Given the description of an element on the screen output the (x, y) to click on. 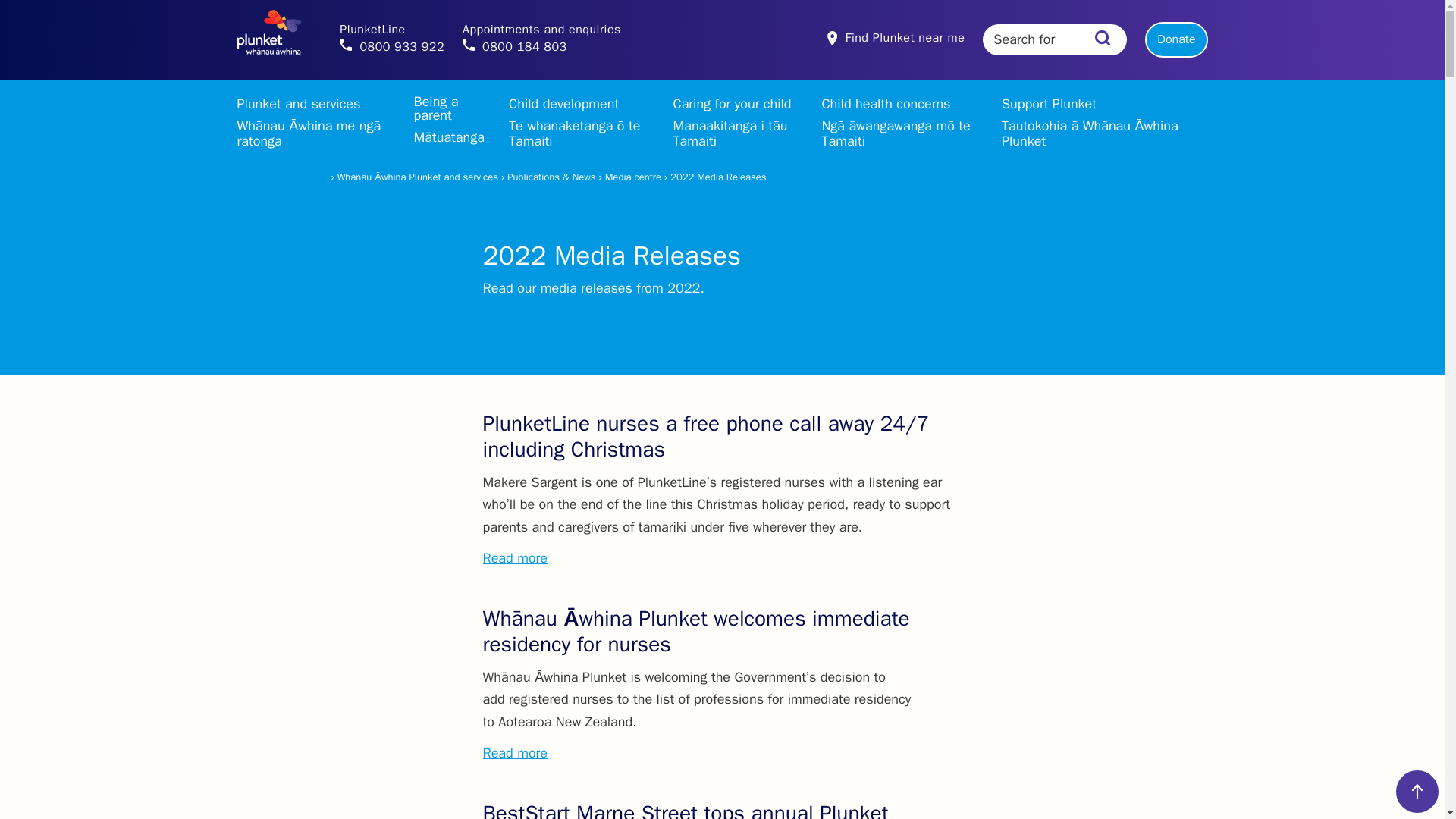
Donate (542, 38)
Search (1175, 39)
Find Plunket near me (1102, 39)
